Given the description of an element on the screen output the (x, y) to click on. 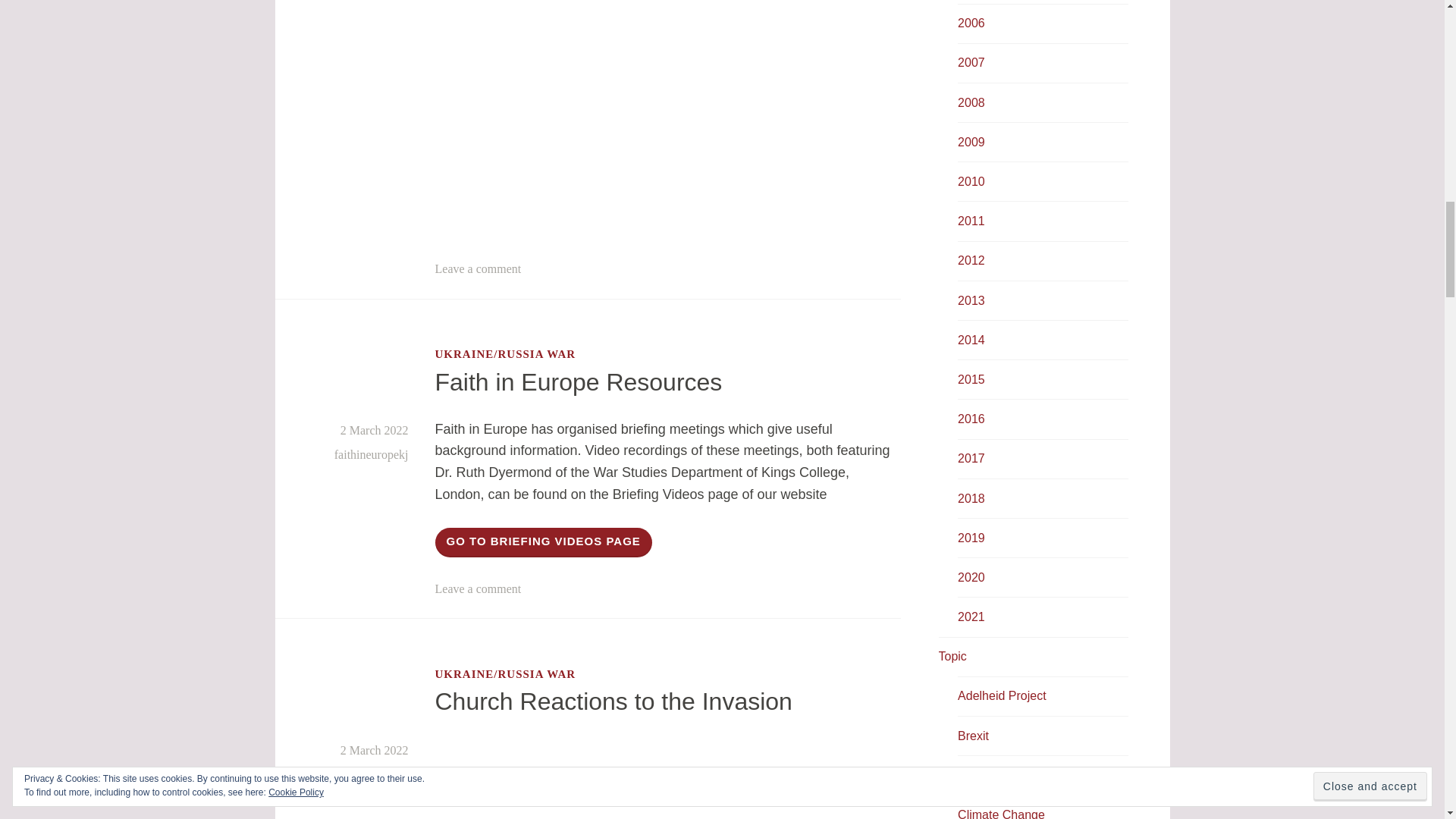
2 March 2022 (374, 430)
Faith in Europe Resources (578, 381)
faithineuropekj (371, 454)
Leave a comment (478, 268)
